Given the description of an element on the screen output the (x, y) to click on. 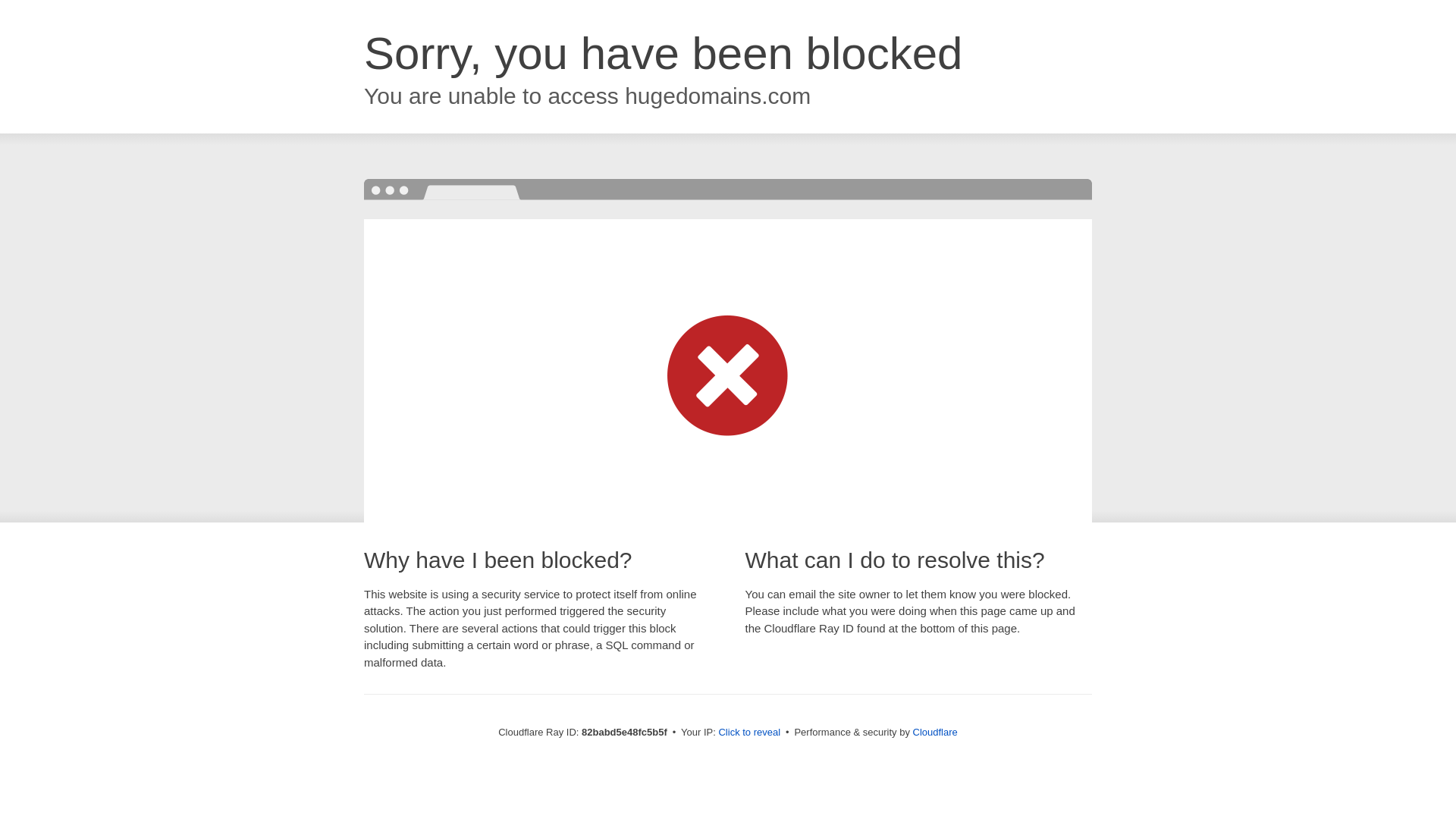
Click to reveal Element type: text (749, 732)
Cloudflare Element type: text (935, 731)
